Given the description of an element on the screen output the (x, y) to click on. 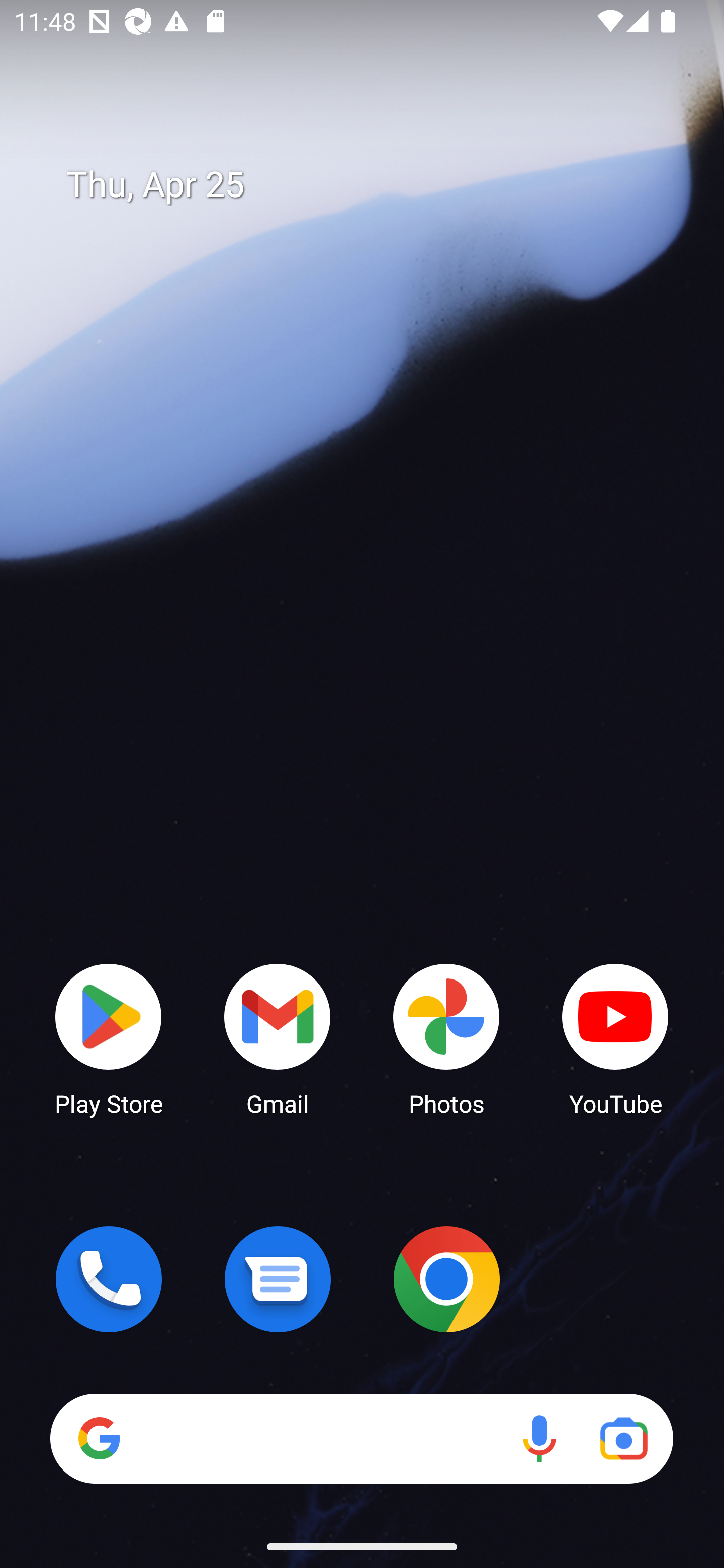
Thu, Apr 25 (375, 184)
Play Store (108, 1038)
Gmail (277, 1038)
Photos (445, 1038)
YouTube (615, 1038)
Phone (108, 1279)
Messages (277, 1279)
Chrome (446, 1279)
Search Voice search Google Lens (361, 1438)
Voice search (539, 1438)
Google Lens (623, 1438)
